Given the description of an element on the screen output the (x, y) to click on. 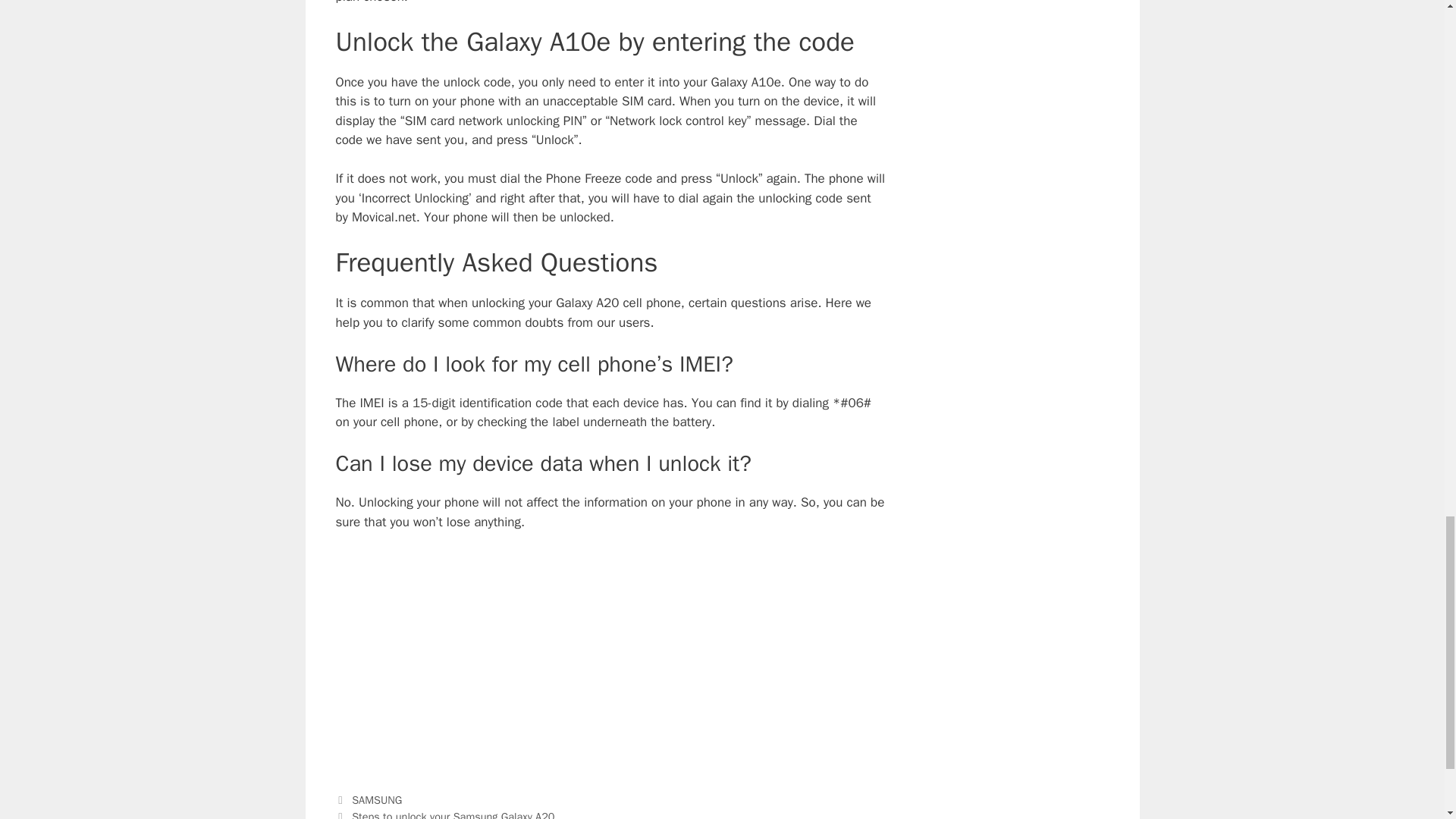
Advertisement (609, 657)
SAMSUNG (376, 799)
Steps to unlock your Samsung Galaxy A20 (453, 814)
